Given the description of an element on the screen output the (x, y) to click on. 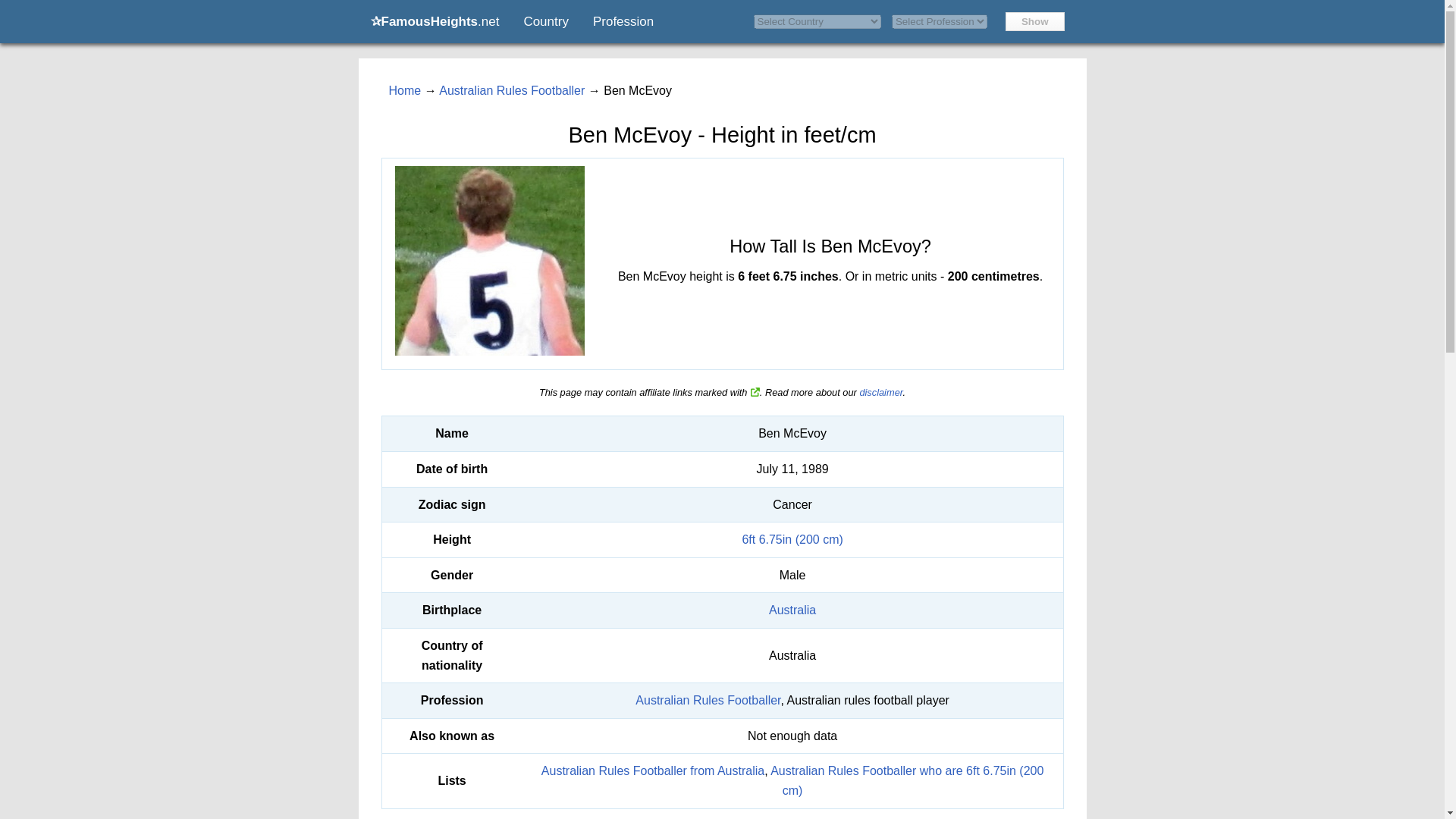
Show (1035, 21)
disclaimer (880, 392)
Australian Rules Footballer (512, 90)
Country (545, 21)
Australian Rules Footballer (707, 699)
Profession (622, 21)
Ben McEvoy (489, 260)
Australian Rules Footballer from Australia (652, 770)
Australia (791, 609)
Home (404, 90)
